Given the description of an element on the screen output the (x, y) to click on. 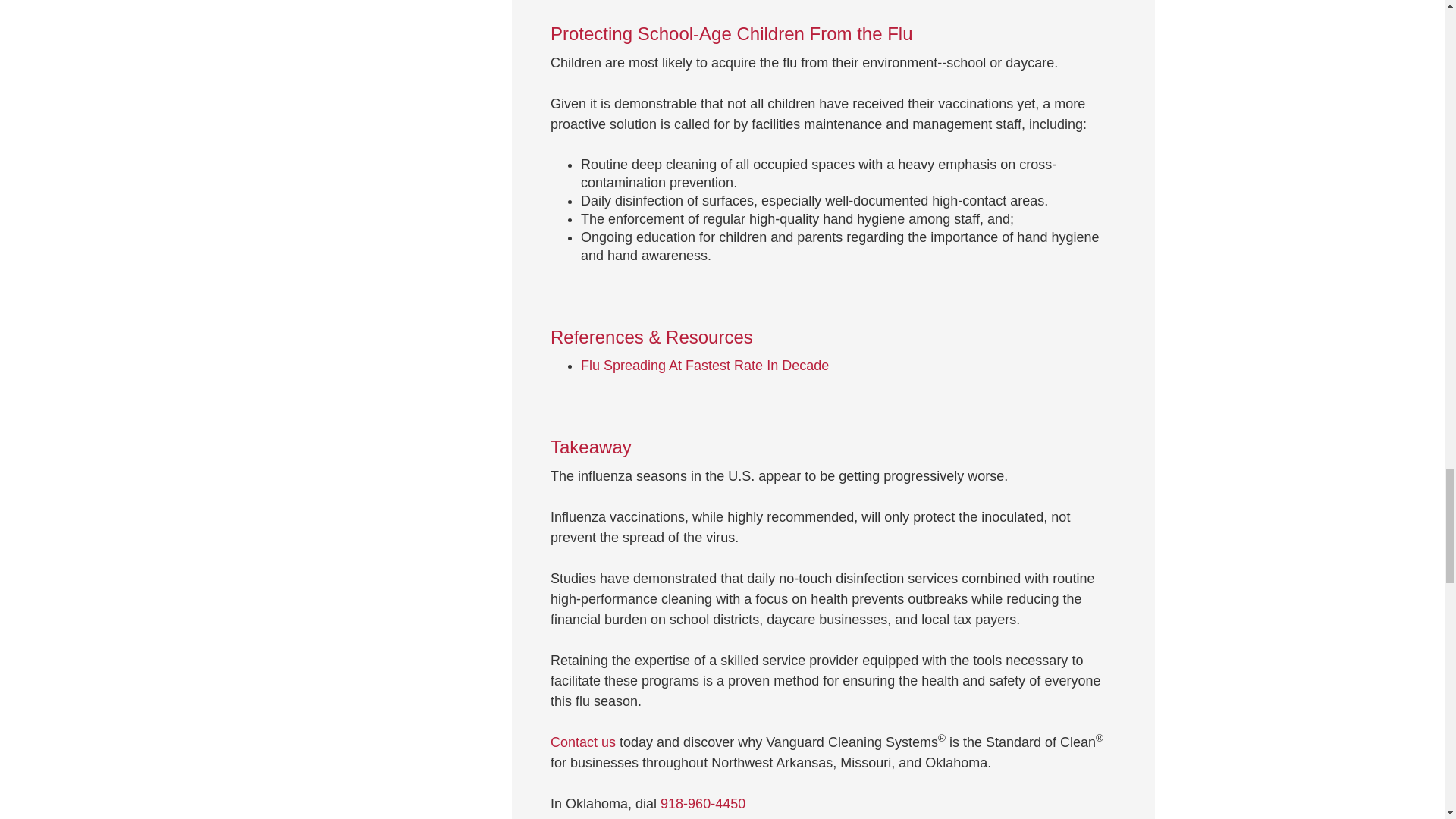
Flu Spreading At Fastest Rate In Decade (704, 365)
Contact Us (582, 742)
